Given the description of an element on the screen output the (x, y) to click on. 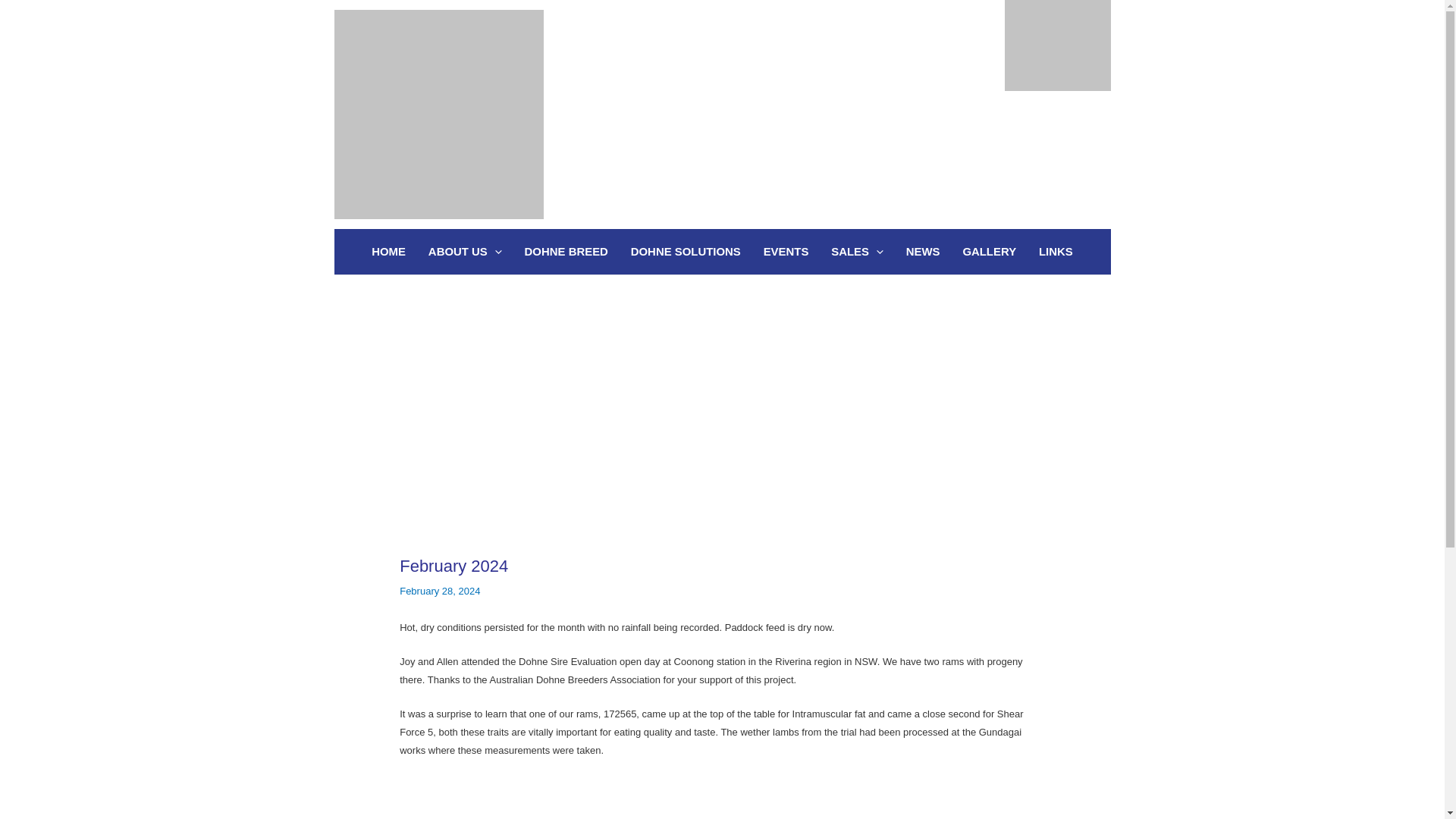
LINKS (1055, 251)
HOME (387, 251)
NEWS (923, 251)
SALES (857, 251)
DOHNE SOLUTIONS (686, 251)
GALLERY (988, 251)
ABOUT US (464, 251)
EVENTS (786, 251)
DOHNE BREED (566, 251)
